Given the description of an element on the screen output the (x, y) to click on. 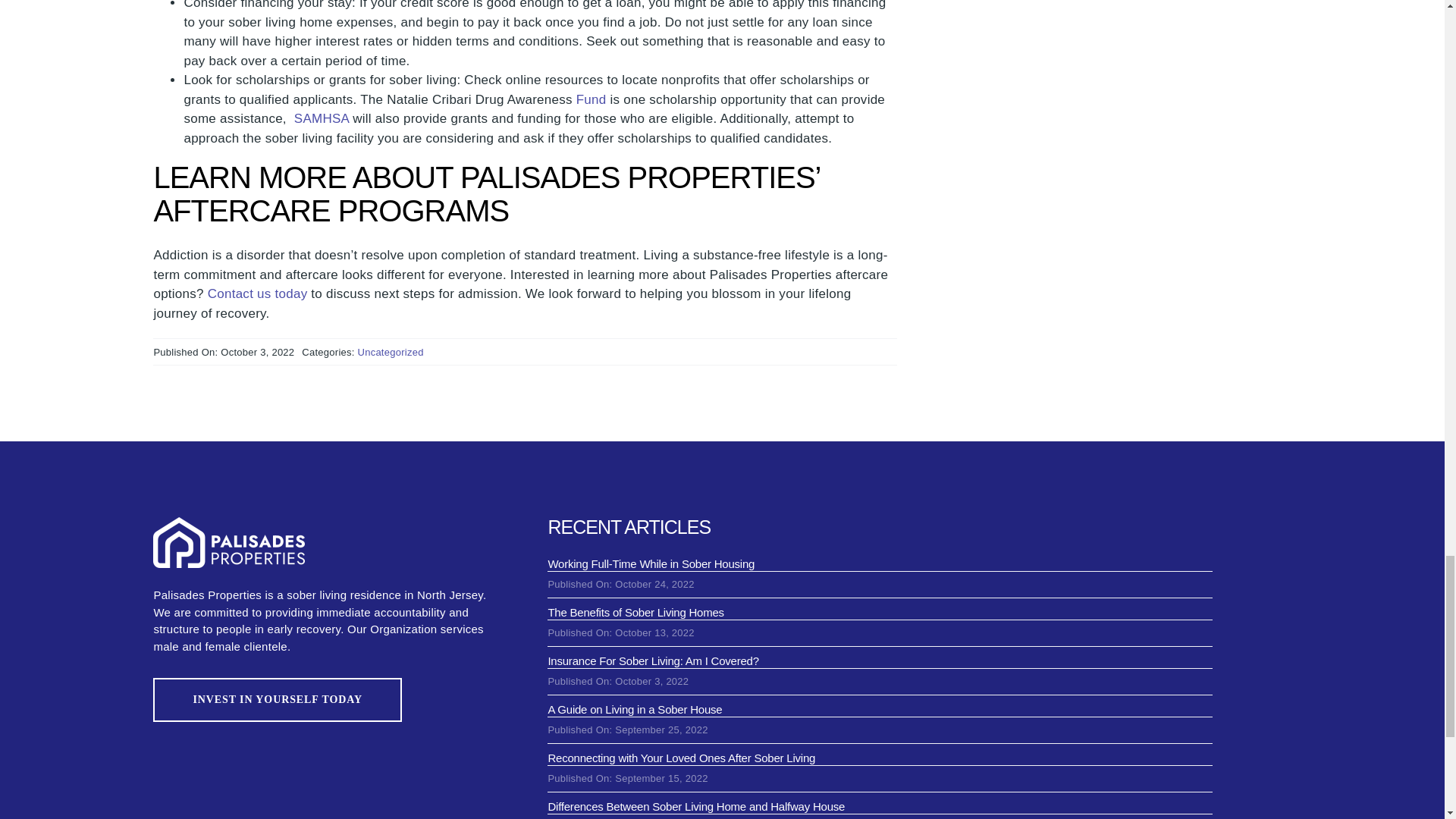
Fund (591, 99)
Differences Between Sober Living Home and Halfway House (695, 806)
Contact us today (257, 293)
Insurance For Sober Living: Am I Covered? (652, 660)
A Guide on Living in a Sober House (634, 708)
logo (228, 542)
SAMHSA (321, 118)
INVEST IN YOURSELF TODAY (276, 699)
The Benefits of Sober Living Homes (635, 612)
Reconnecting with Your Loved Ones After Sober Living (681, 757)
